Given the description of an element on the screen output the (x, y) to click on. 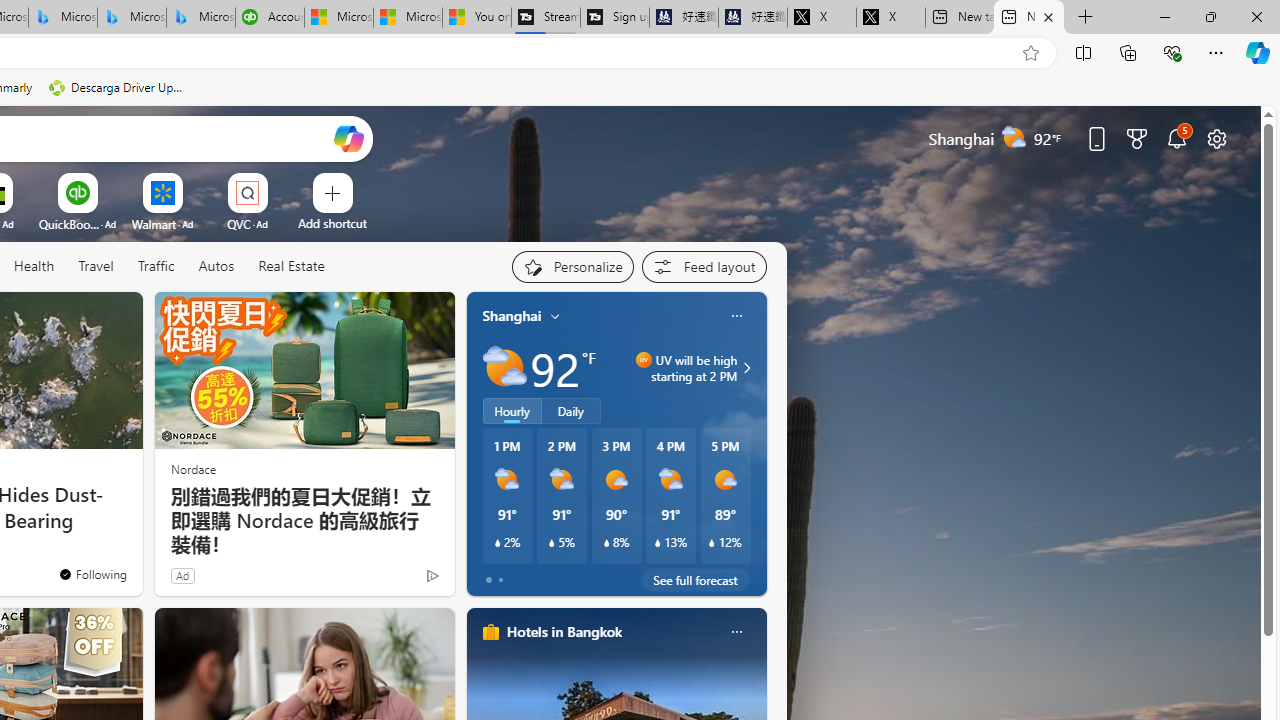
X (890, 17)
Open Copilot (347, 138)
Shanghai (511, 315)
Add this page to favorites (Ctrl+D) (1030, 53)
Real Estate (290, 267)
Traffic (155, 265)
Settings and more (Alt+F) (1215, 52)
Partly sunny (504, 368)
Ad (182, 575)
tab-1 (500, 579)
Microsoft Bing Travel - Stays in Bangkok, Bangkok, Thailand (63, 17)
Restore (1210, 16)
Descarga Driver Updater (118, 88)
